Given the description of an element on the screen output the (x, y) to click on. 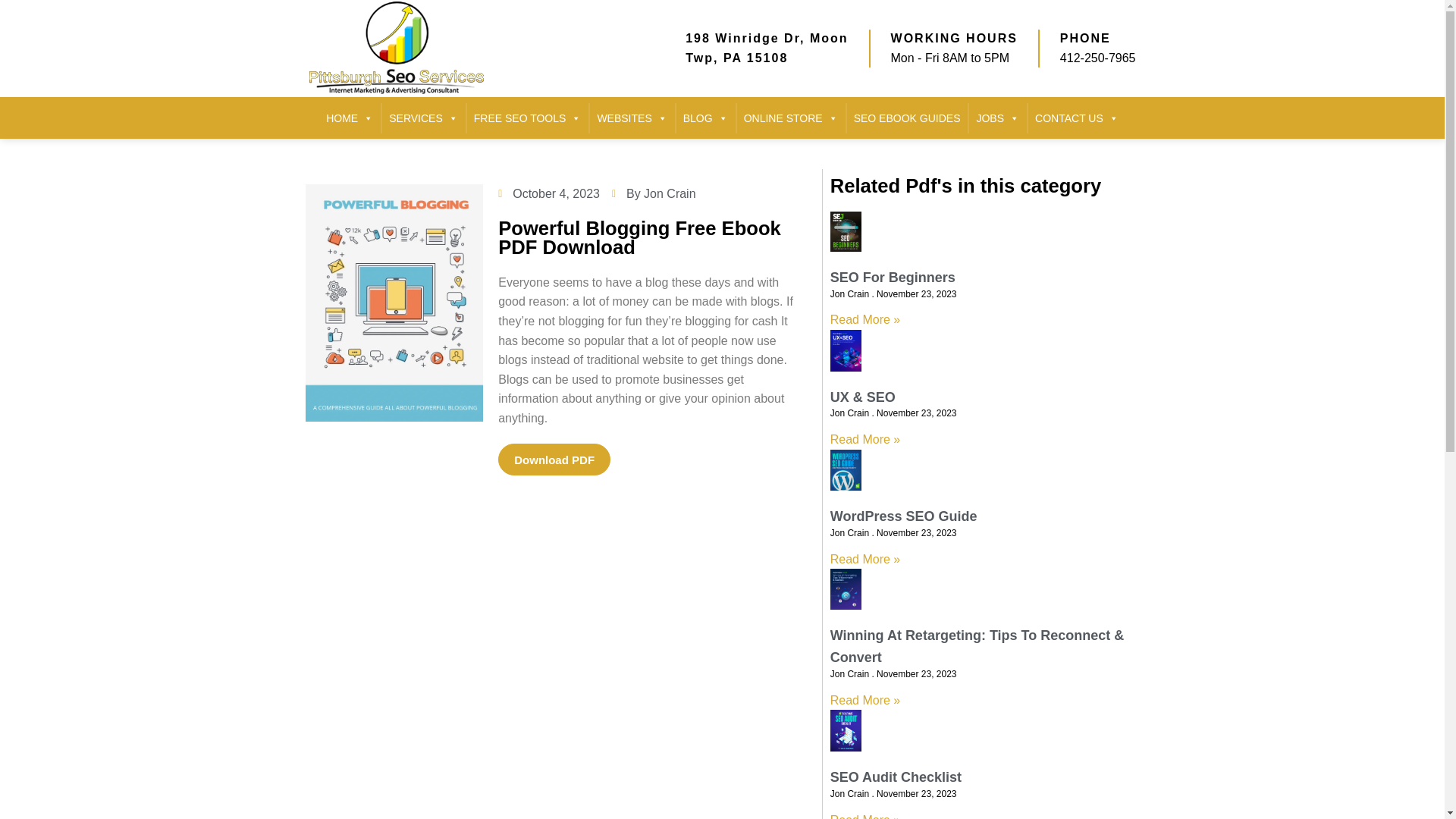
FREE SEO TOOLS (527, 118)
HOME (349, 118)
SERVICES (423, 118)
